Given the description of an element on the screen output the (x, y) to click on. 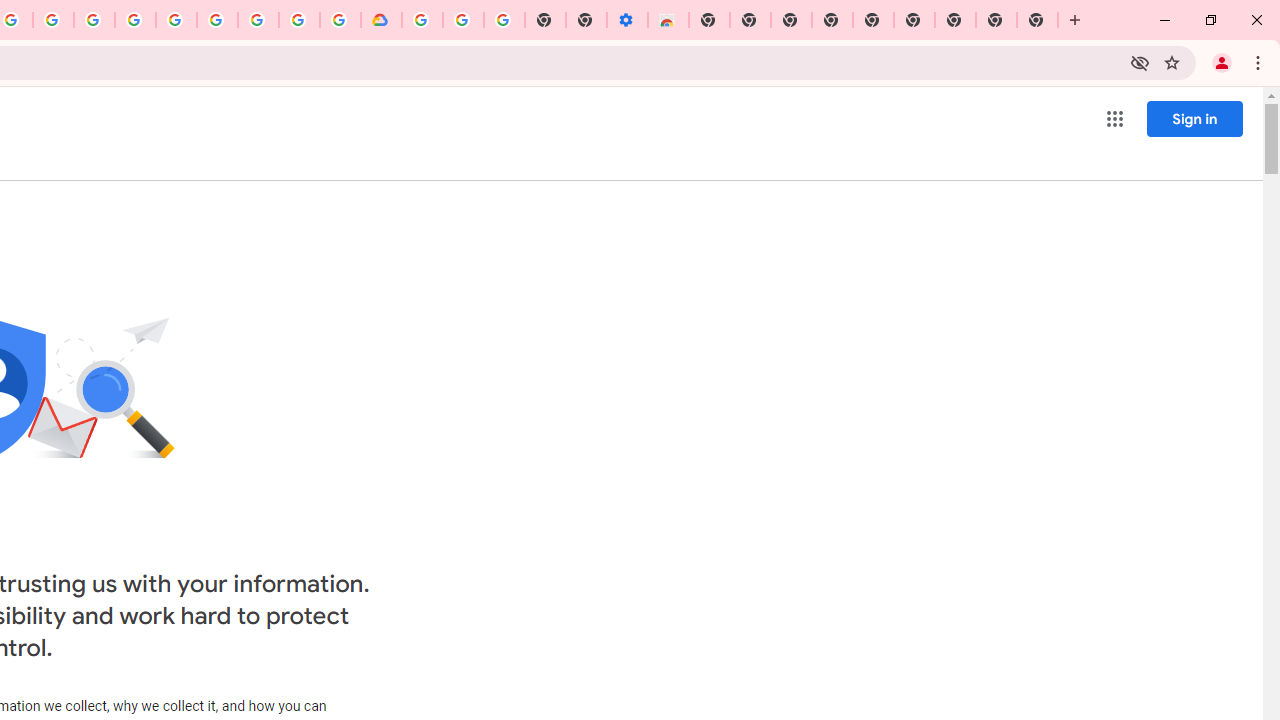
Settings - Accessibility (626, 20)
Google Account Help (462, 20)
Ad Settings (135, 20)
Sign in - Google Accounts (176, 20)
Create your Google Account (53, 20)
Create your Google Account (299, 20)
Chrome Web Store - Accessibility extensions (667, 20)
